Given the description of an element on the screen output the (x, y) to click on. 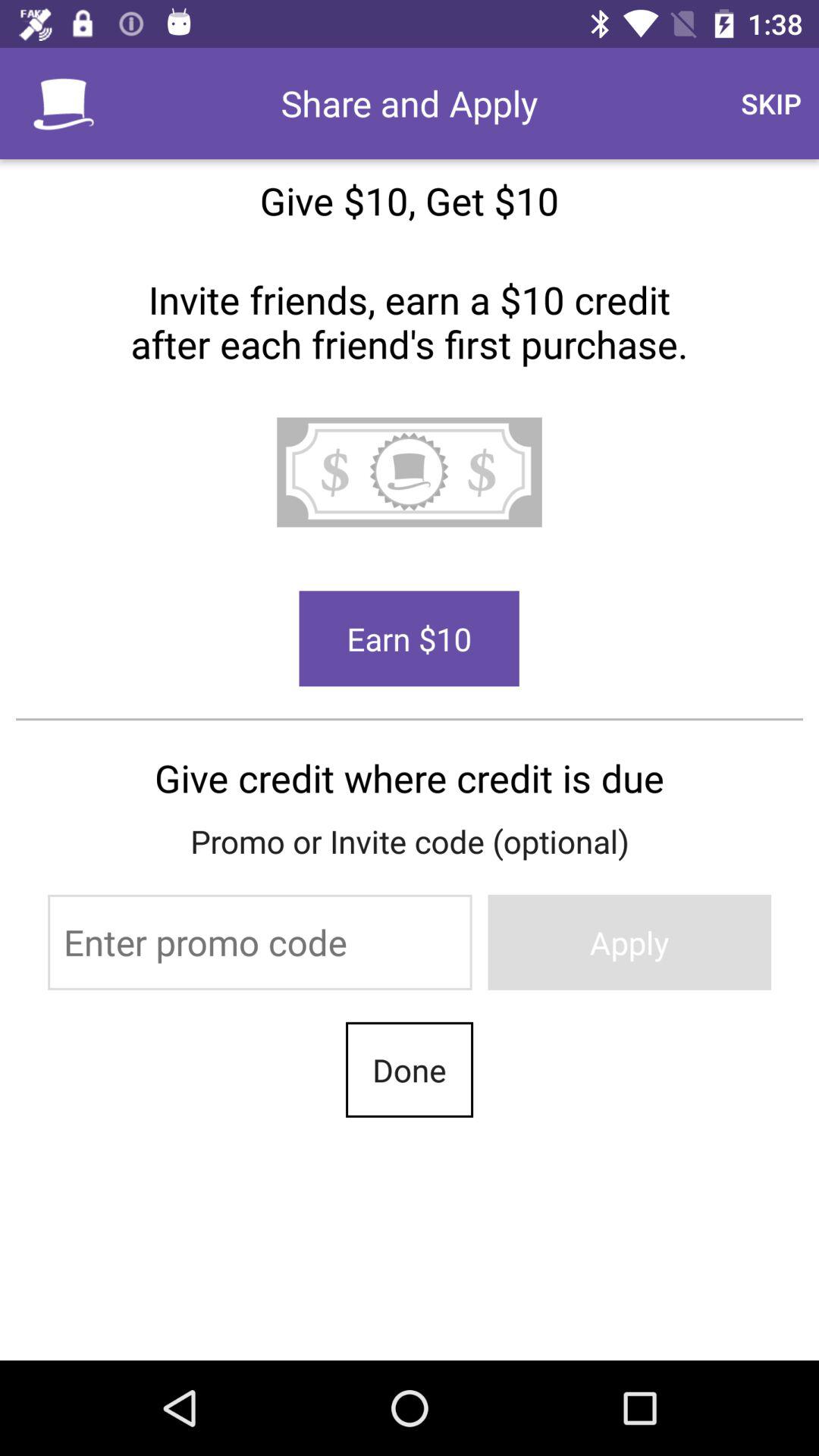
click the icon which is on left of share and apply text (63, 103)
go to the last text (409, 1070)
click on earn 10 button (409, 638)
go to the text top right of the page (771, 103)
click on apply which is in the bottom second line (629, 942)
